Given the description of an element on the screen output the (x, y) to click on. 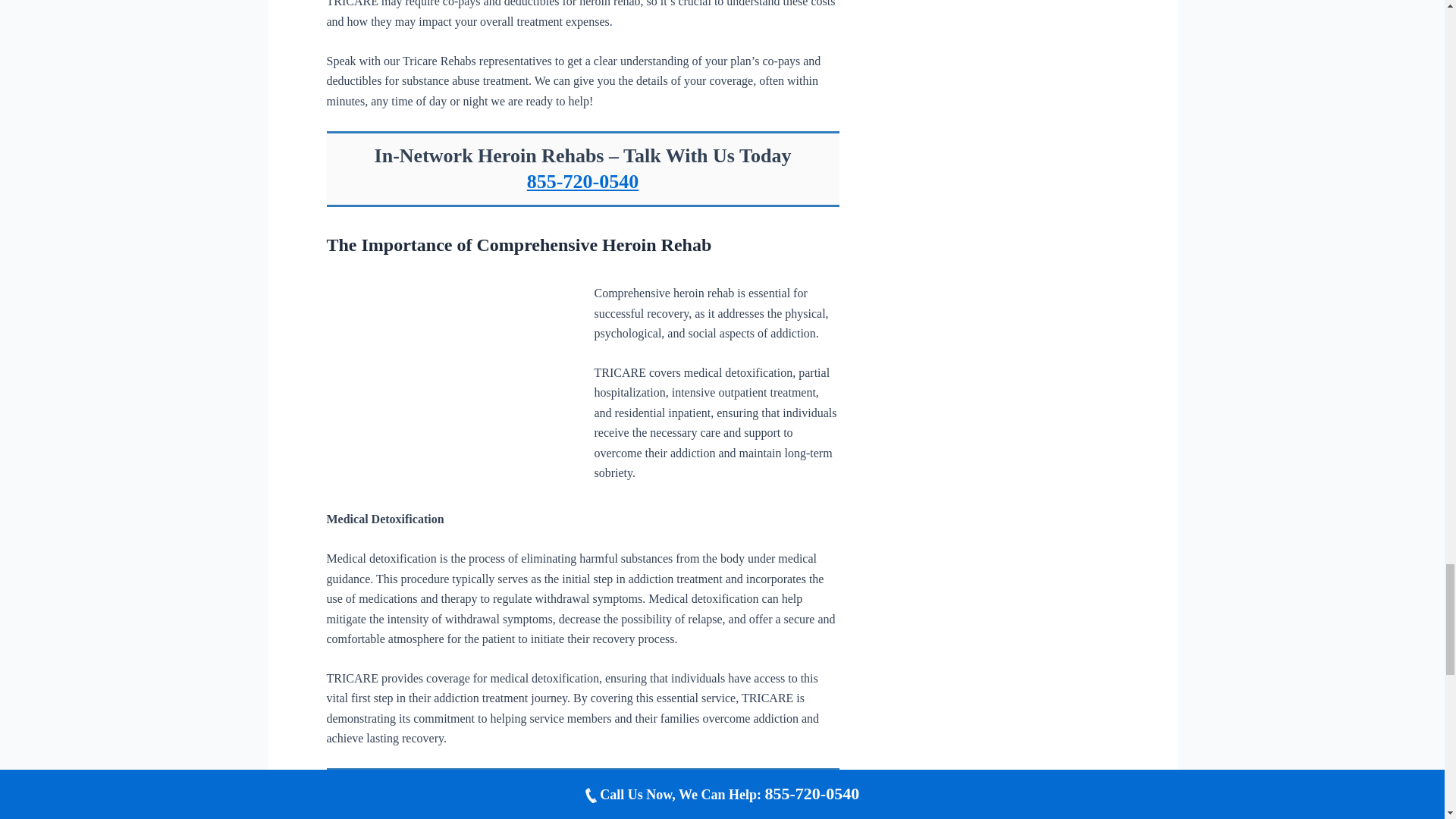
Understanding 4 (448, 365)
